Given the description of an element on the screen output the (x, y) to click on. 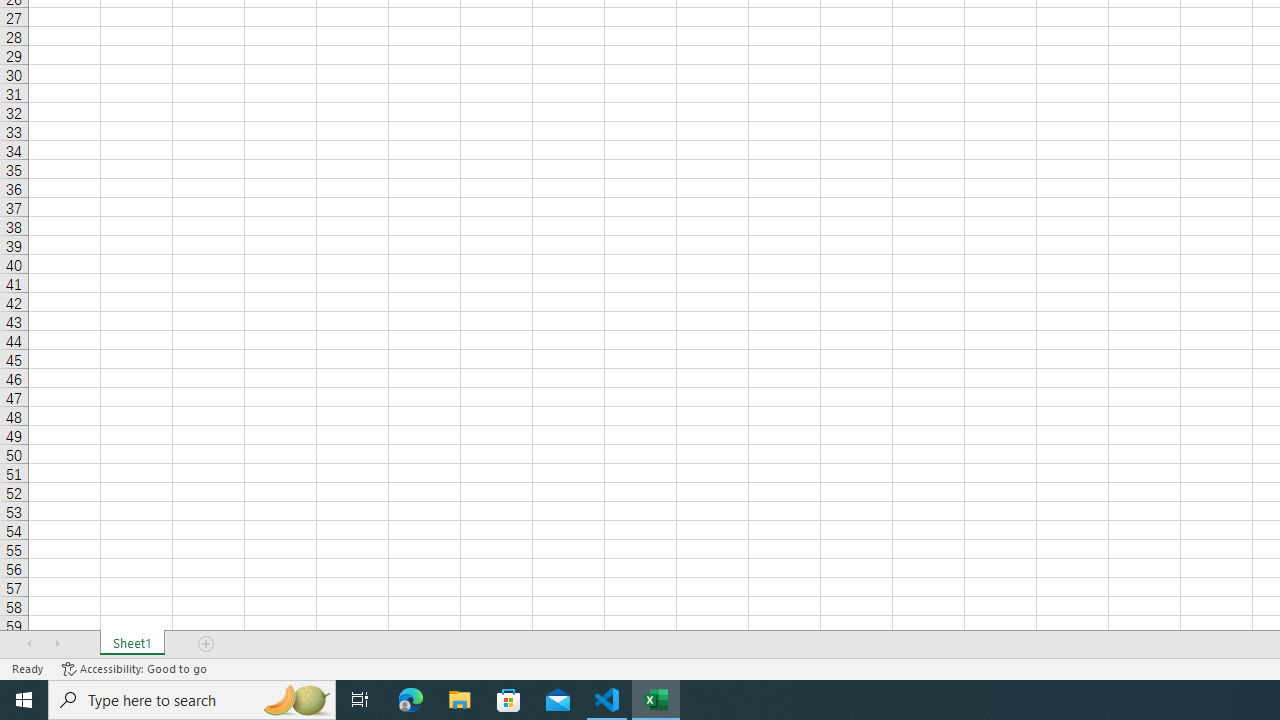
Scroll Left (29, 644)
Accessibility Checker Accessibility: Good to go (134, 668)
Scroll Right (57, 644)
Sheet1 (132, 644)
Add Sheet (207, 644)
